Given the description of an element on the screen output the (x, y) to click on. 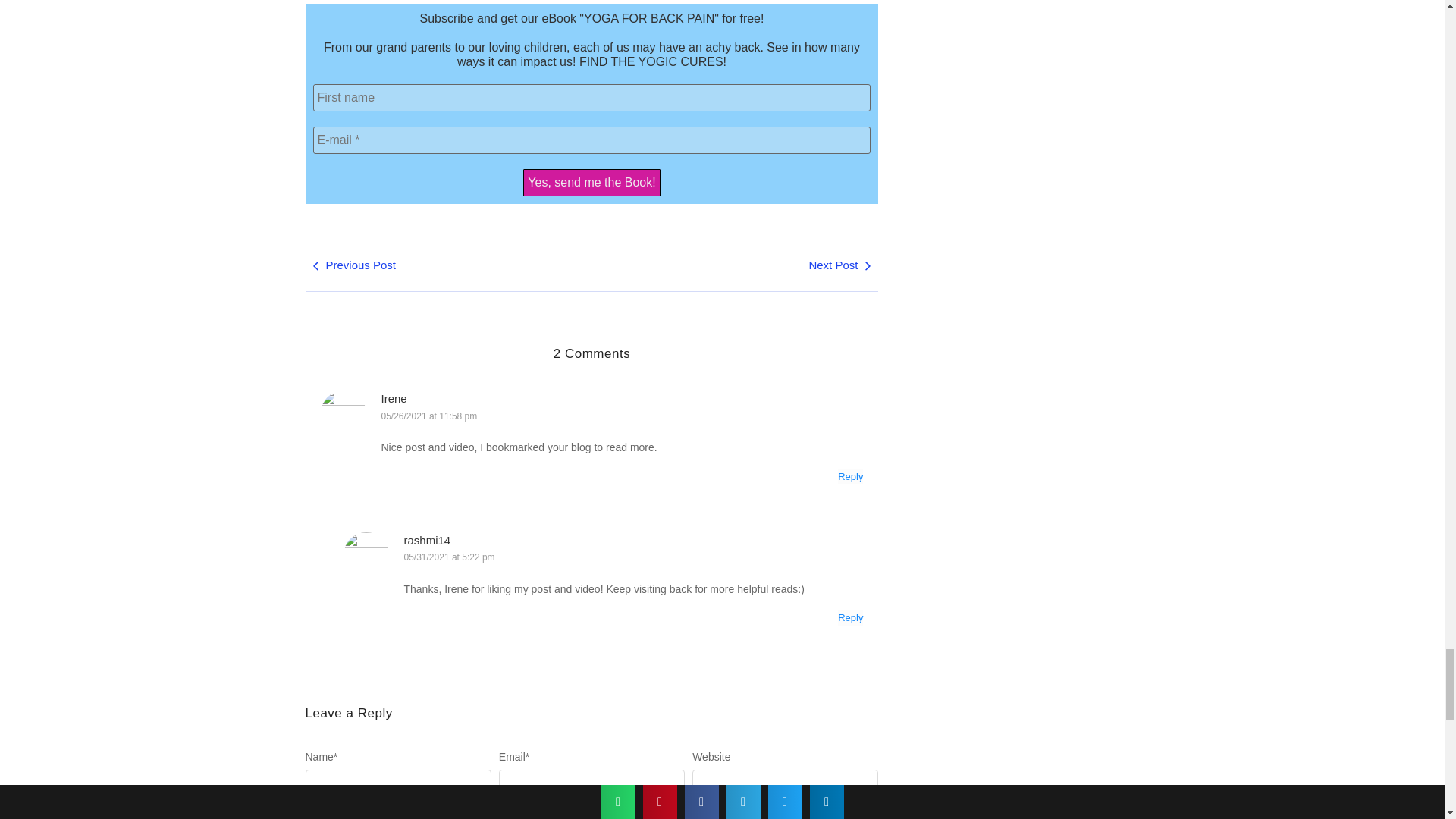
E-mail (591, 139)
First name (591, 97)
Yes, send me the  Book! (590, 182)
